Given the description of an element on the screen output the (x, y) to click on. 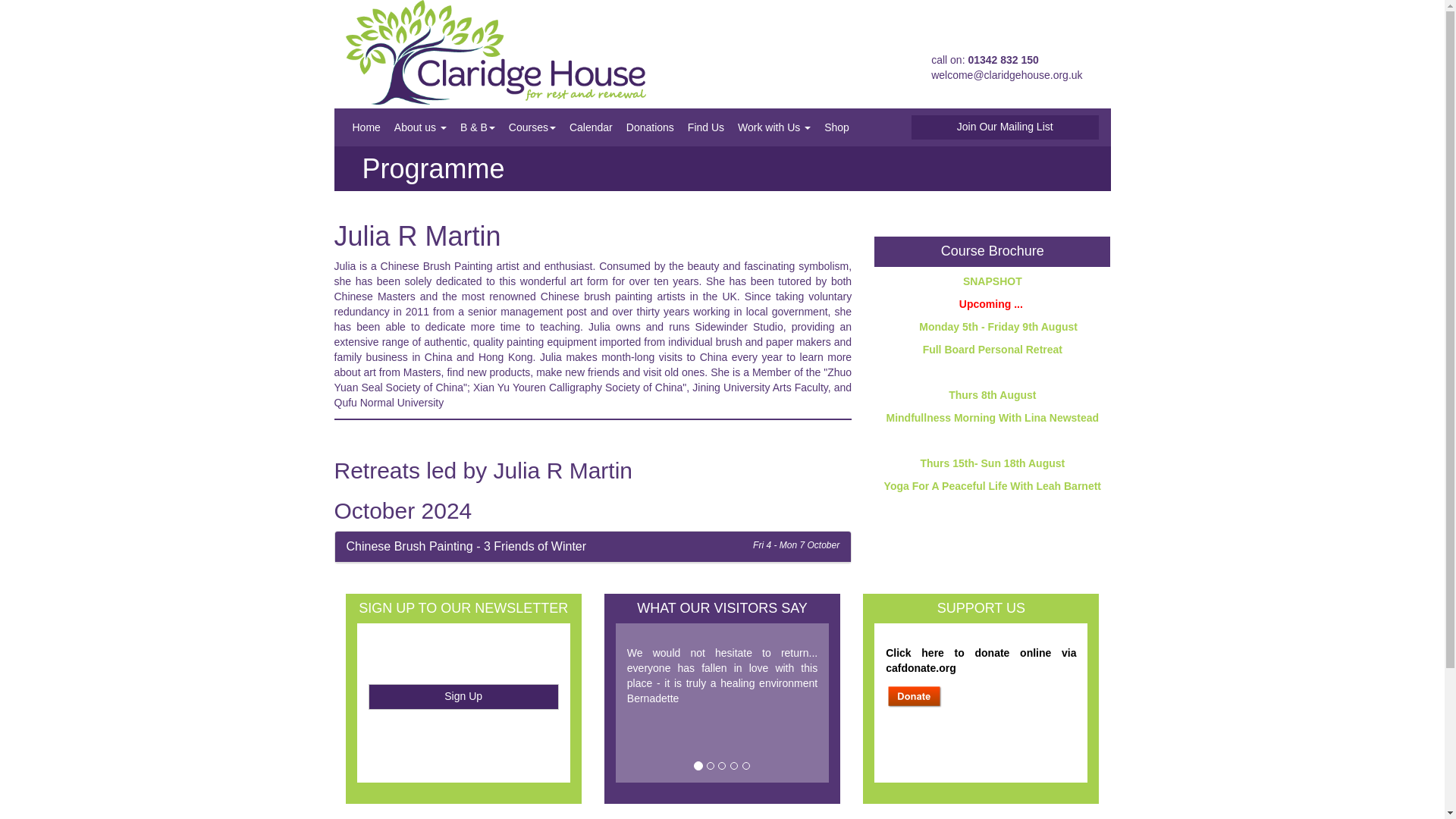
Join Our Mailing List (1005, 127)
Work with Us (773, 127)
Calendar (591, 127)
Courses (532, 127)
Course Brochure (991, 250)
Find Us (705, 127)
Home (366, 127)
Donations (650, 127)
Sign Up (463, 696)
Shop (836, 127)
About us (419, 127)
